Given the description of an element on the screen output the (x, y) to click on. 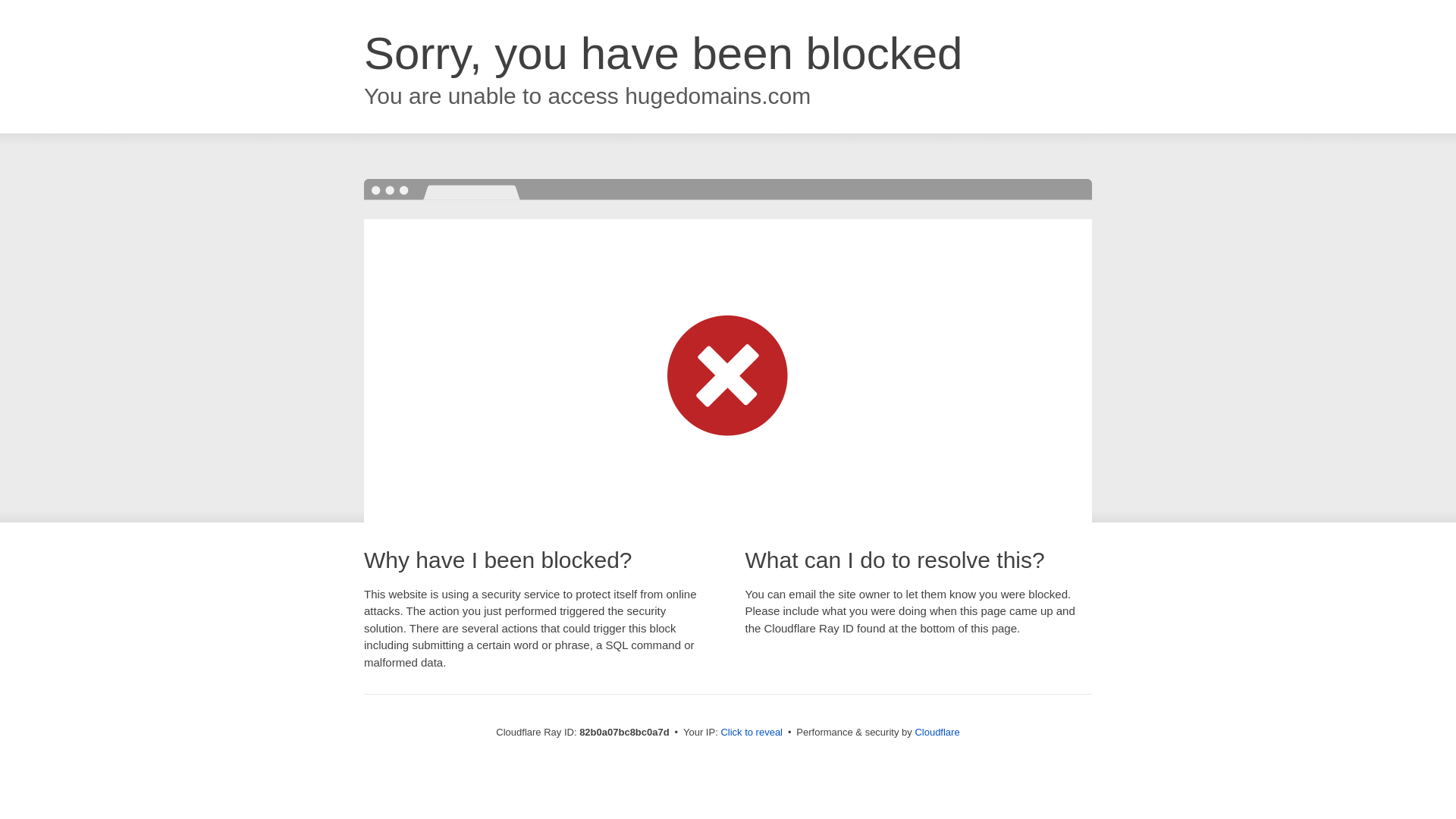
Click to reveal Element type: text (751, 732)
Cloudflare Element type: text (936, 731)
